Given the description of an element on the screen output the (x, y) to click on. 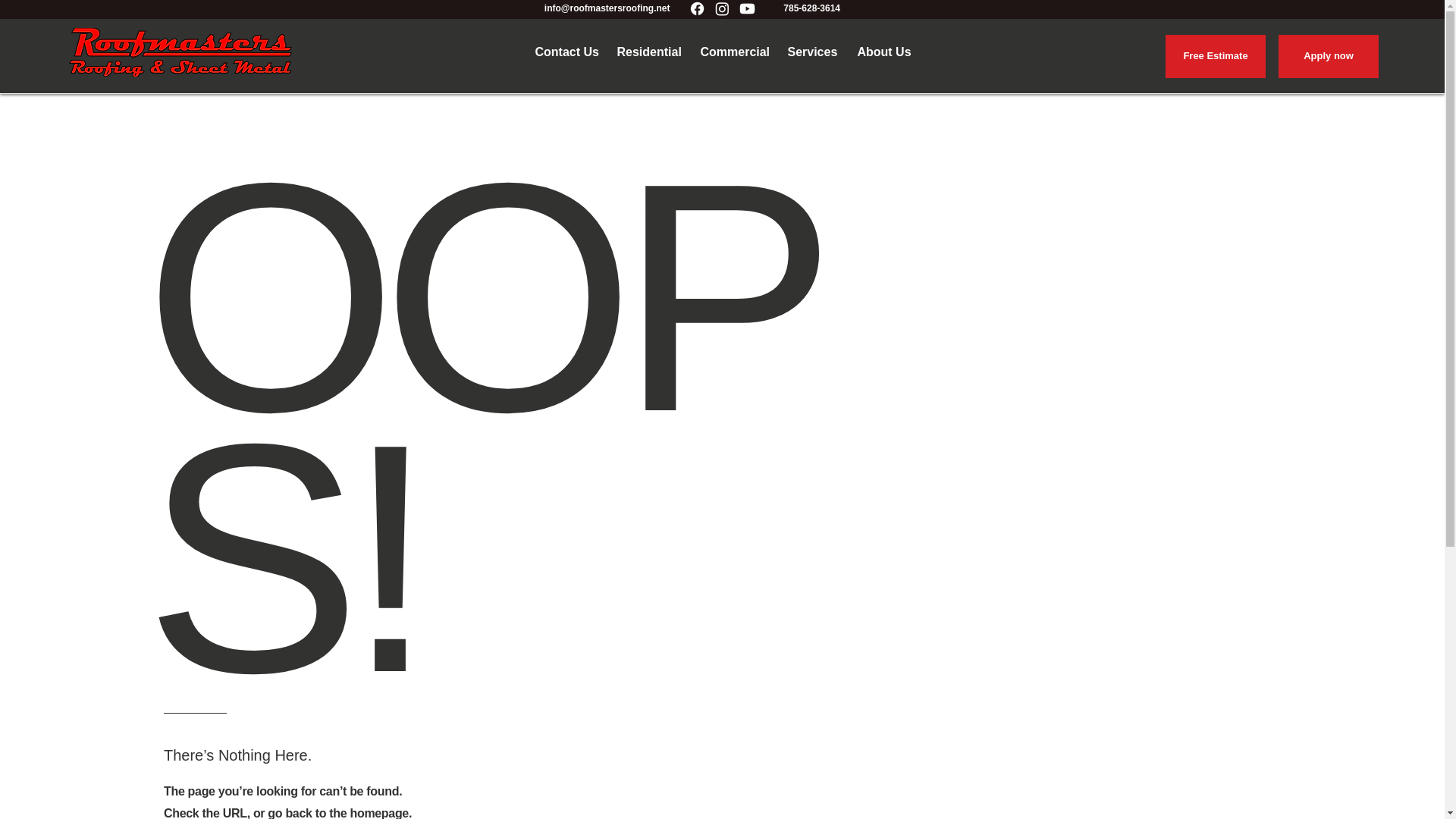
Residential (646, 52)
Commercial (732, 52)
Apply now (1328, 56)
Services (810, 52)
Free Estimate (1215, 56)
 785-628-3614 (810, 8)
About Us (881, 52)
Contact Us (563, 52)
